Given the description of an element on the screen output the (x, y) to click on. 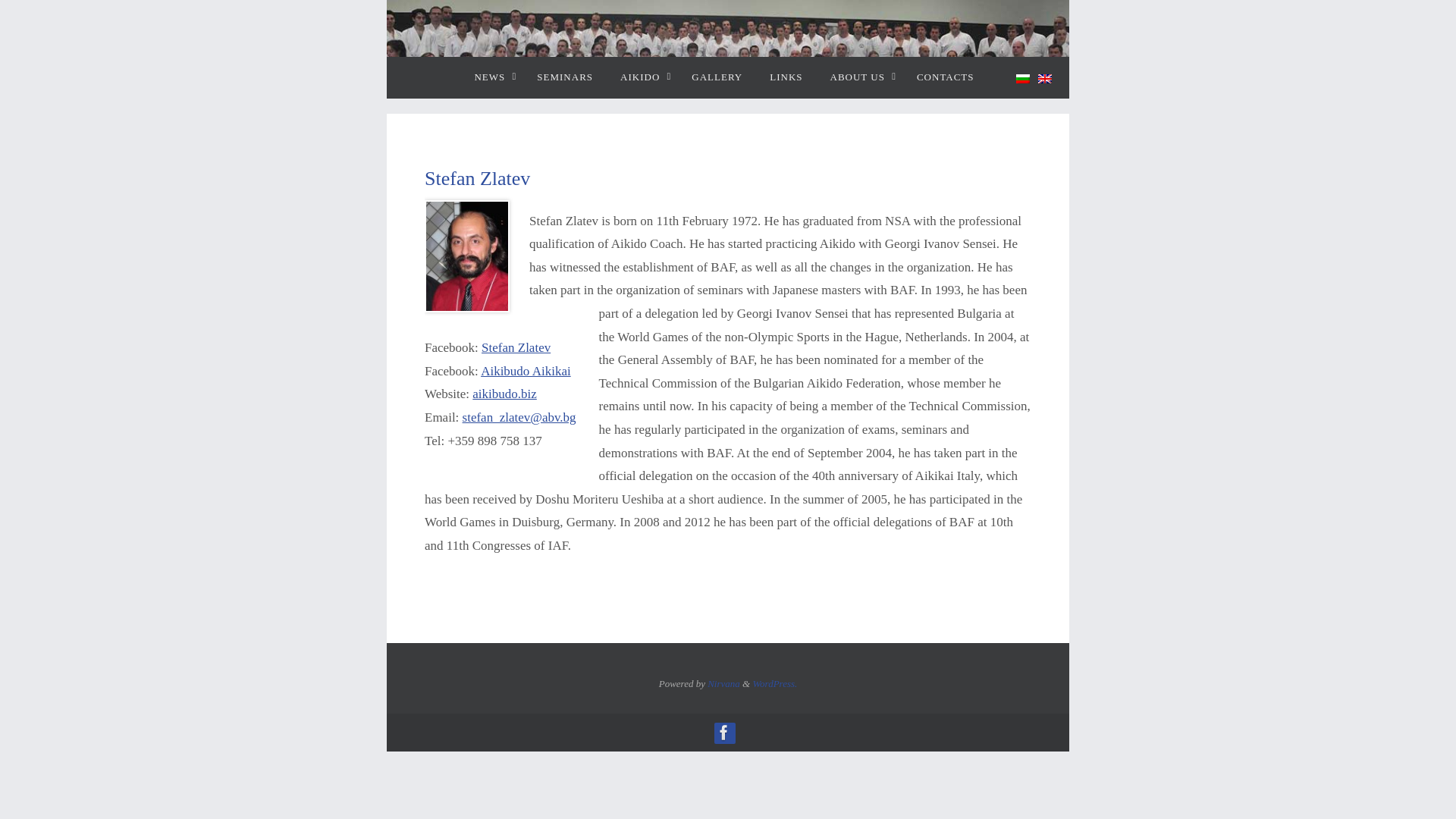
AIKIDO (642, 77)
Nirvana Theme by Cryout Creations (723, 683)
Aikibudo Aikikai (525, 370)
Semantic Personal Publishing Platform (774, 683)
WordPress. (774, 683)
aikibudo.biz (504, 393)
ABOUT US (859, 77)
NEWS (491, 77)
Bulgarian Aikido Federation (727, 97)
Facebook (723, 732)
